Given the description of an element on the screen output the (x, y) to click on. 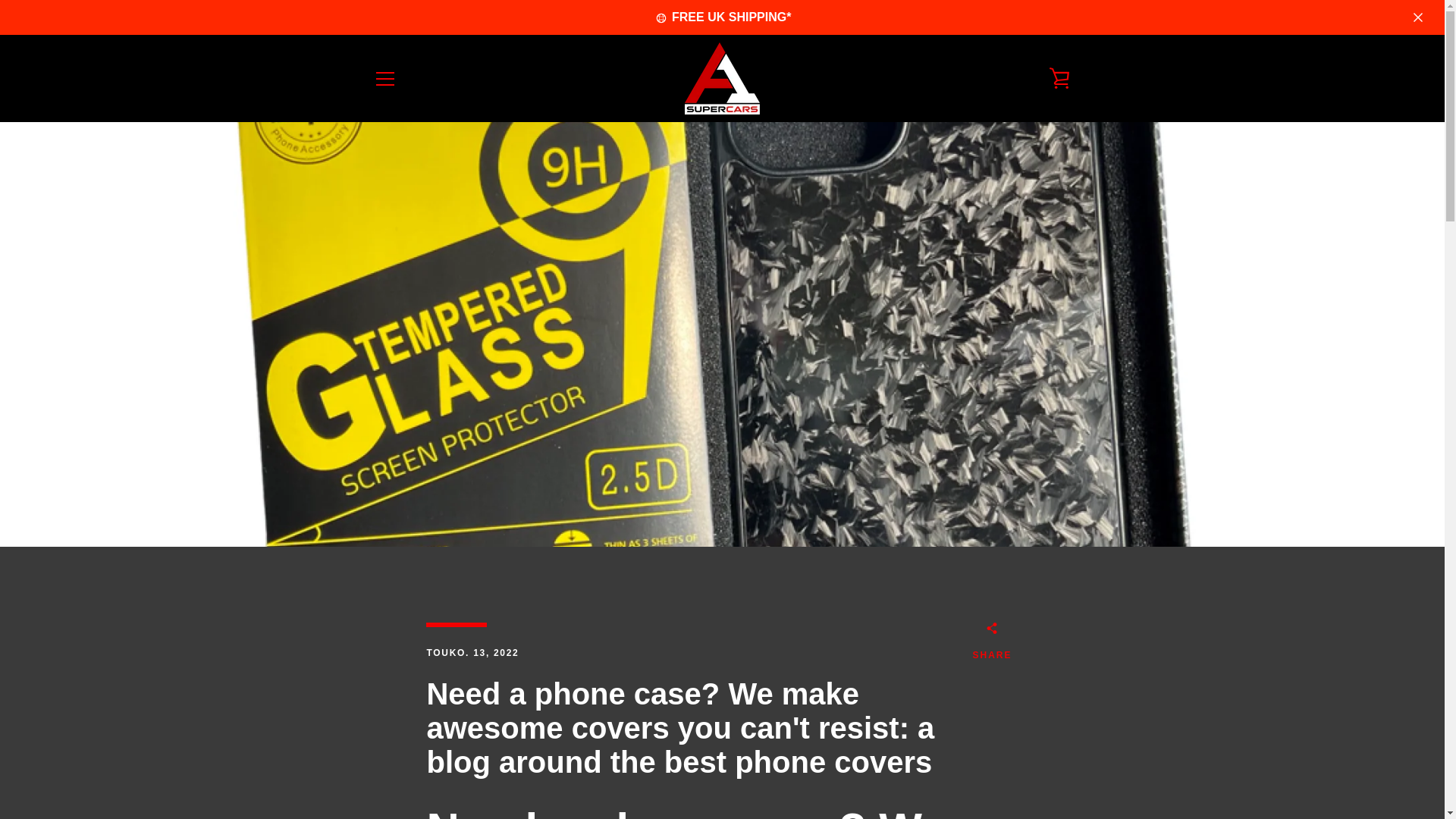
MENU (384, 77)
American Express (883, 755)
Apple Pay (918, 755)
Mastercard (953, 778)
Shop Pay (988, 778)
A1 Supercars Limited on YouTube (452, 765)
Visa (1057, 778)
Google Pay (1022, 755)
A1 Supercars Limited on Facebook (372, 765)
Maestro (1057, 755)
Discover (988, 755)
A1 Supercars Limited on Instagram (424, 765)
Union Pay (1022, 778)
A1 Supercars Limited on Twitter (399, 765)
Diners Club (953, 755)
